Given the description of an element on the screen output the (x, y) to click on. 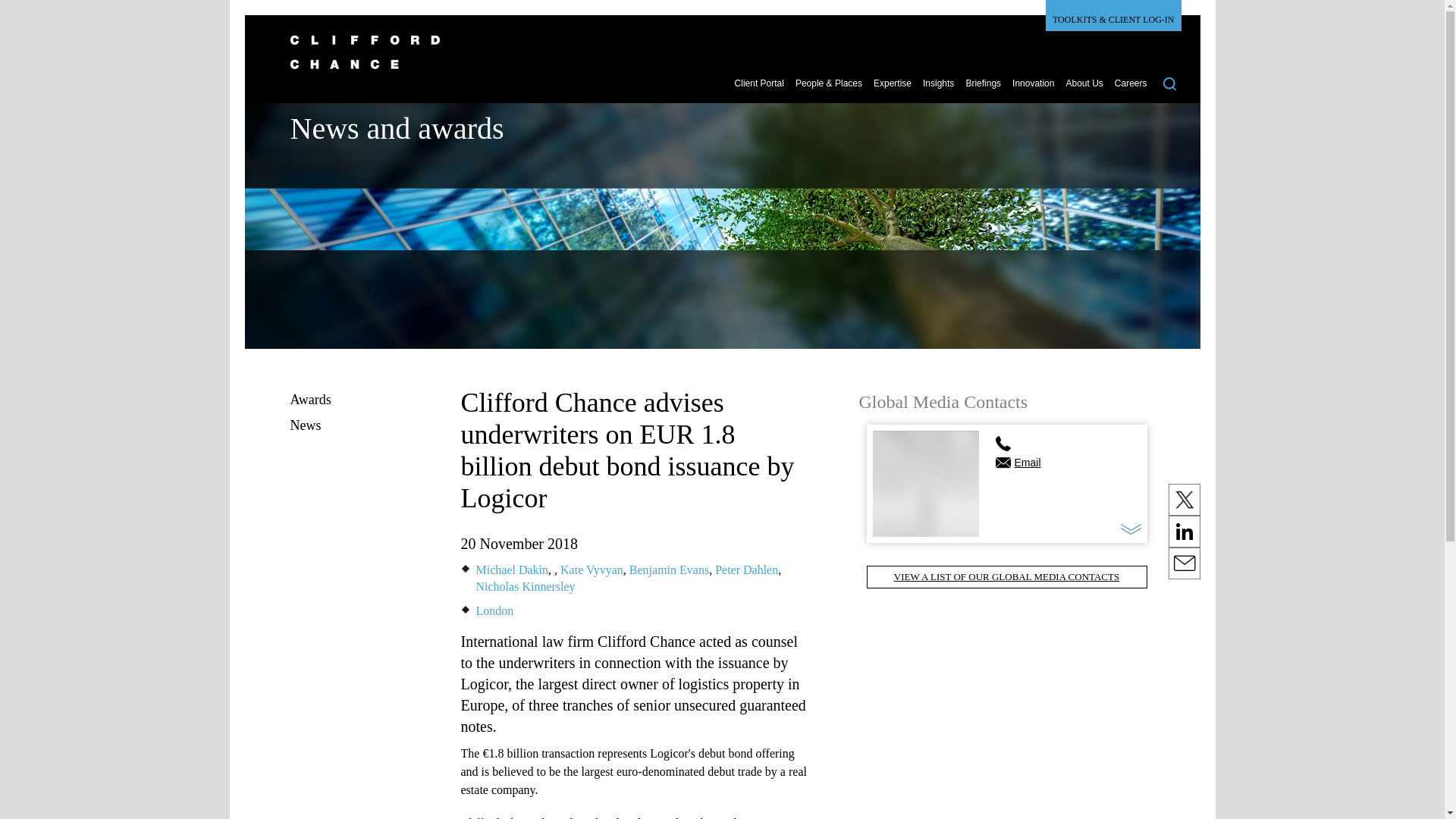
Client Portal (759, 89)
Clifford Chance, London (494, 610)
Clifford Chance (713, 60)
Kate Vyvyan (591, 569)
Peter Dahlen (745, 569)
Michael Dakin (512, 569)
Benjamin Evans (668, 569)
Nicholas Kinnersley (525, 585)
